Given the description of an element on the screen output the (x, y) to click on. 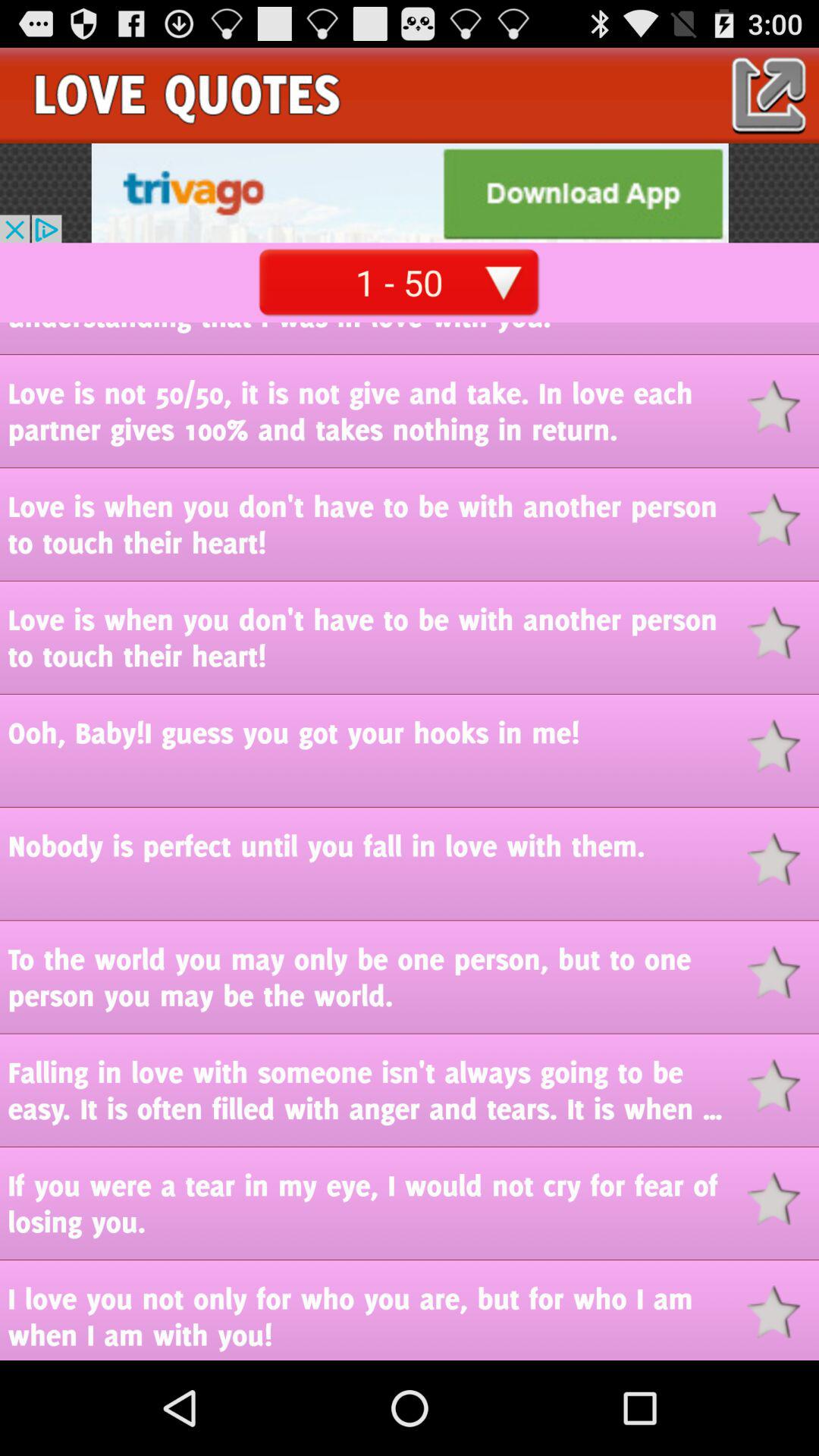
favorite (783, 519)
